Given the description of an element on the screen output the (x, y) to click on. 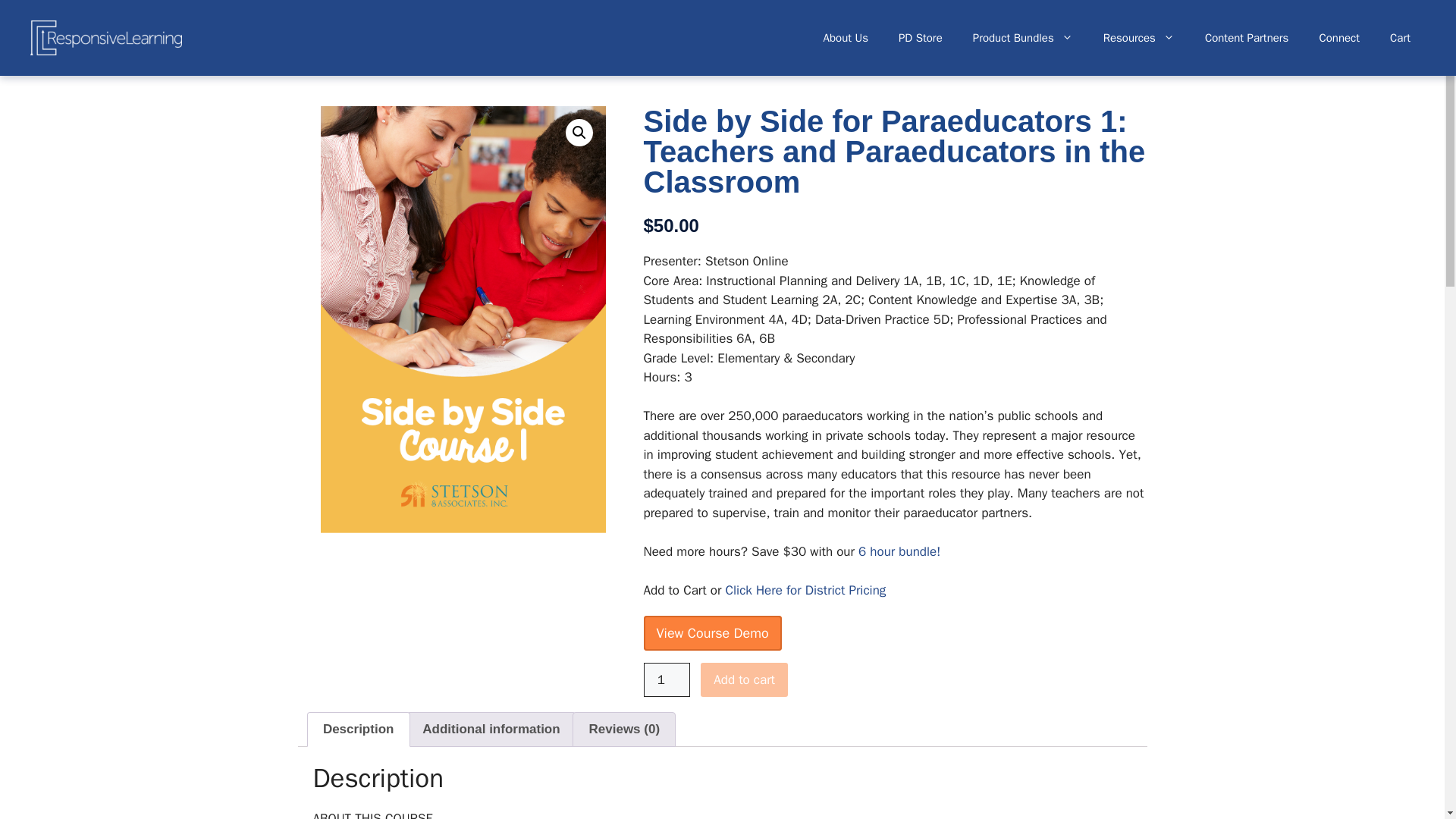
Content Partners (1246, 37)
1 (666, 679)
Resources (1138, 37)
Product Bundles (1022, 37)
View Course Demo (711, 632)
Click Here for District Pricing (805, 590)
Cart (1399, 37)
6 hour bundle! (899, 550)
About Us (845, 37)
Additional information (491, 729)
